Given the description of an element on the screen output the (x, y) to click on. 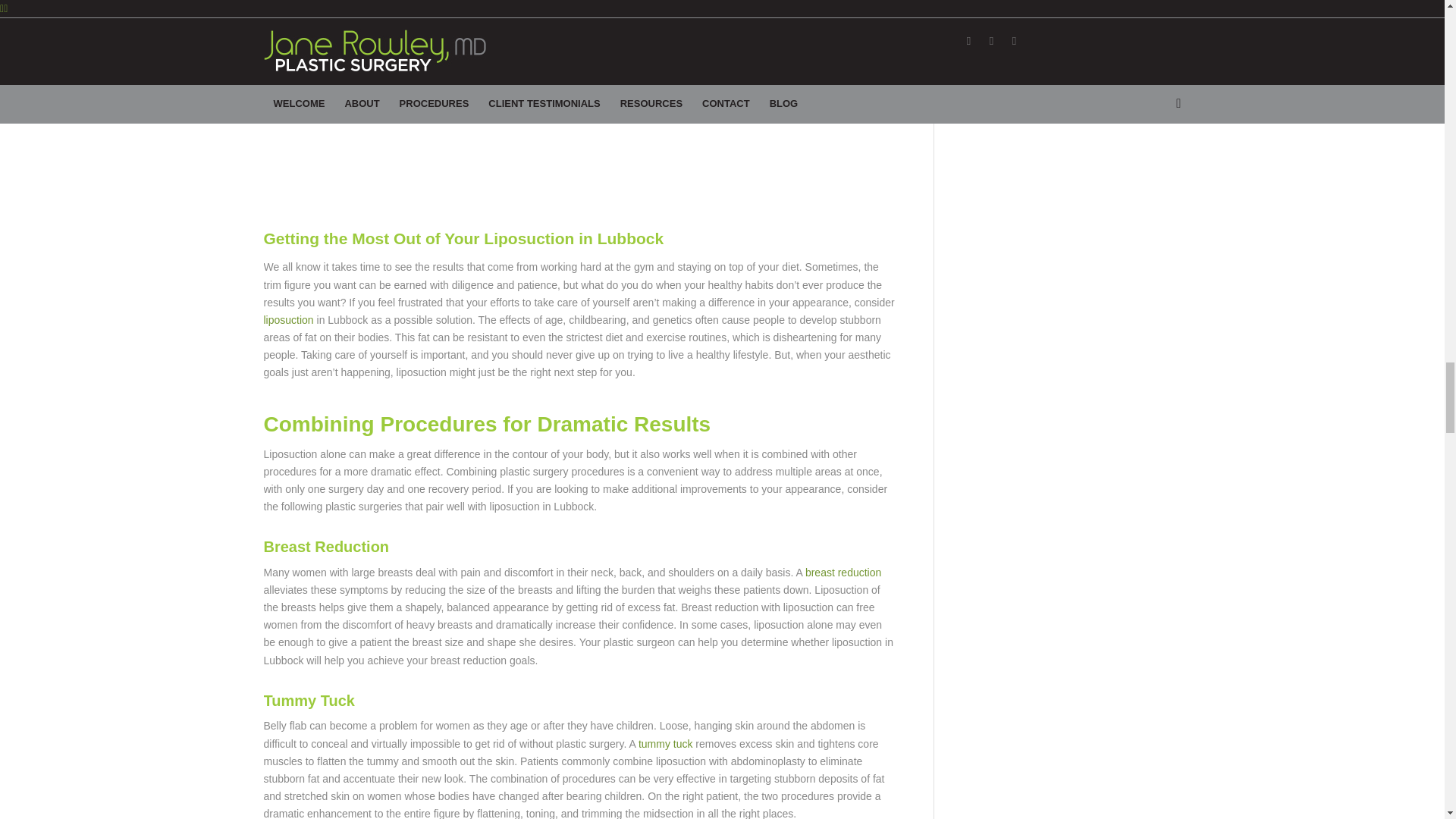
tummy tuck (663, 743)
breast reduction (842, 572)
Getting the Most Out of Your Liposuction in Lubbock (463, 238)
liposuction (288, 319)
